Given the description of an element on the screen output the (x, y) to click on. 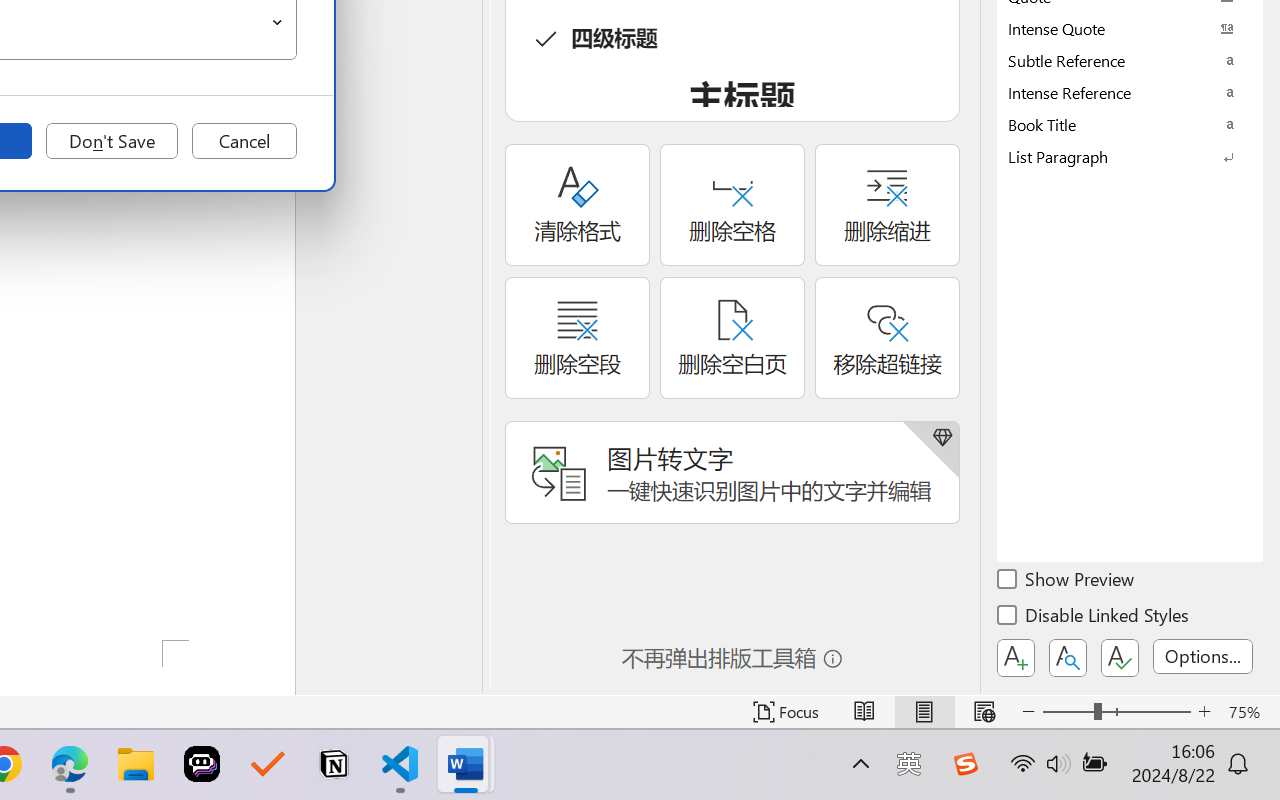
Zoom (1116, 712)
List Paragraph (1130, 156)
Subtle Reference (1130, 60)
Options... (1203, 656)
